Given the description of an element on the screen output the (x, y) to click on. 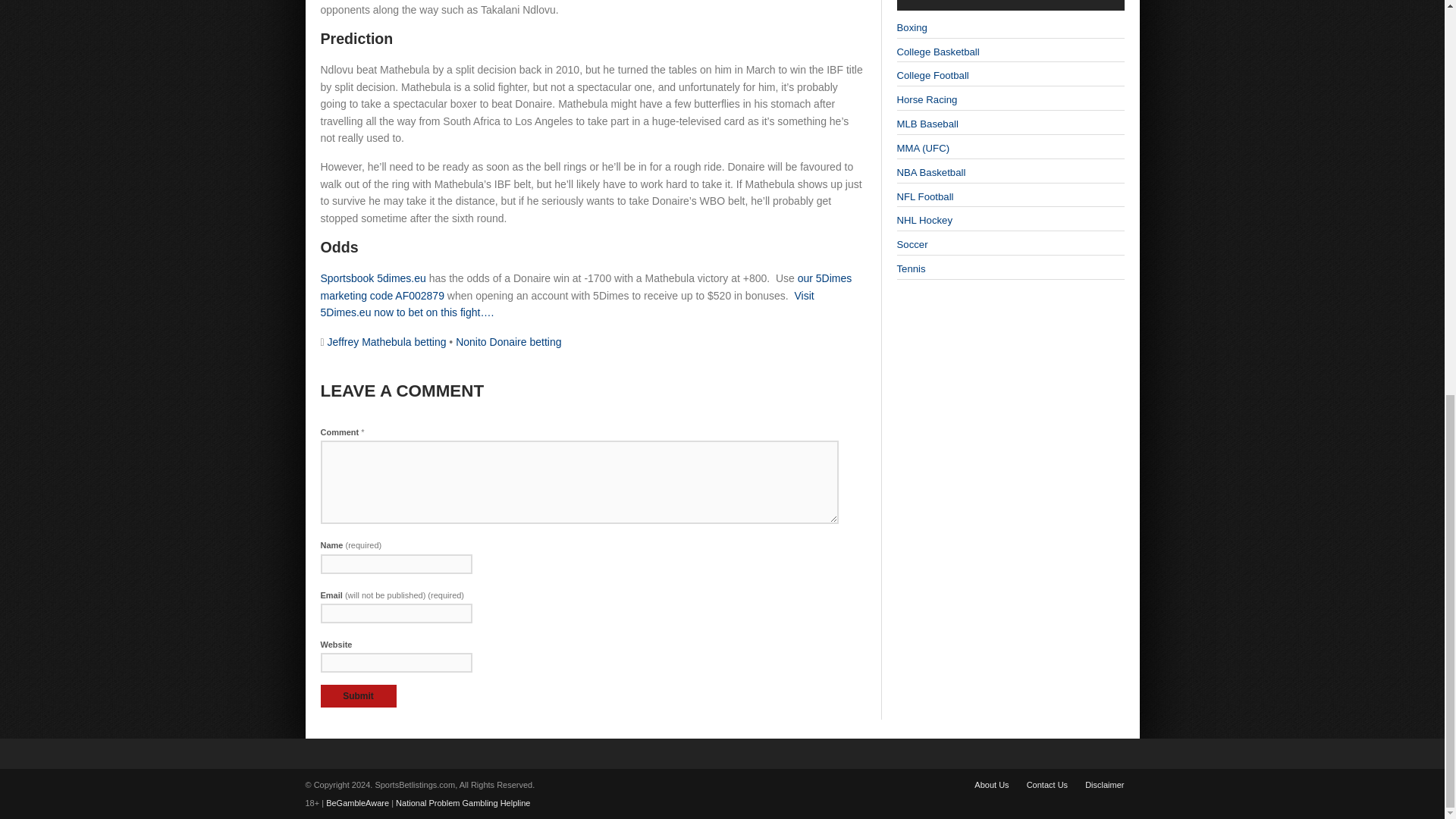
NCAA Basketball Betting (937, 51)
Submit (358, 695)
Horse Race Betting (926, 99)
Sportsbook 5dimes.eu (372, 277)
NCAA Football Betting (932, 75)
5Dimes Sportsbook (372, 277)
our 5Dimes marketing code AF002879 (585, 286)
Submit (358, 695)
Boxing Betting (911, 27)
Jeffrey Mathebula betting (386, 341)
